Given the description of an element on the screen output the (x, y) to click on. 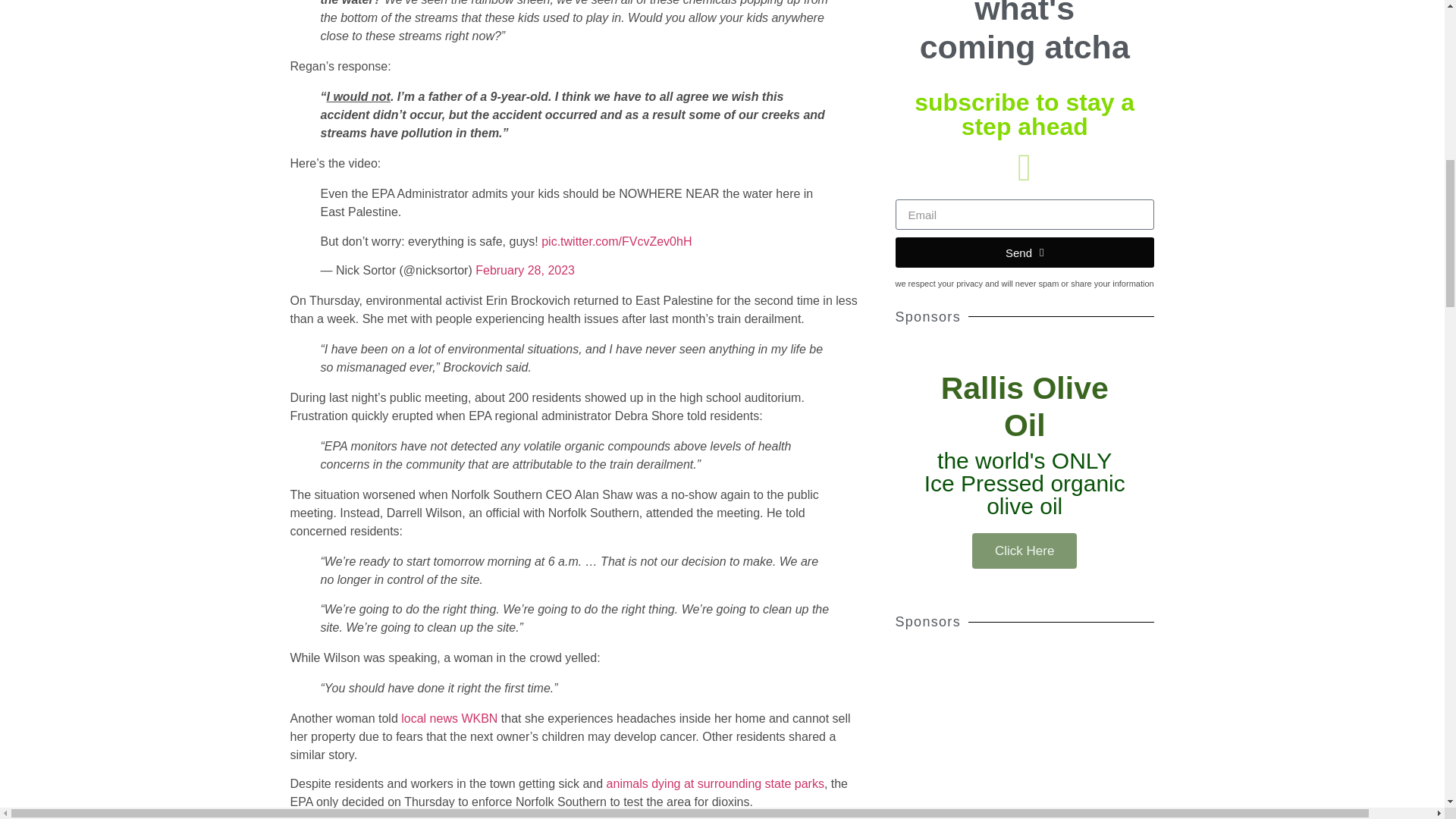
local news WKBN (449, 717)
animals dying at surrounding state parks (715, 783)
February 28, 2023 (525, 269)
